Given the description of an element on the screen output the (x, y) to click on. 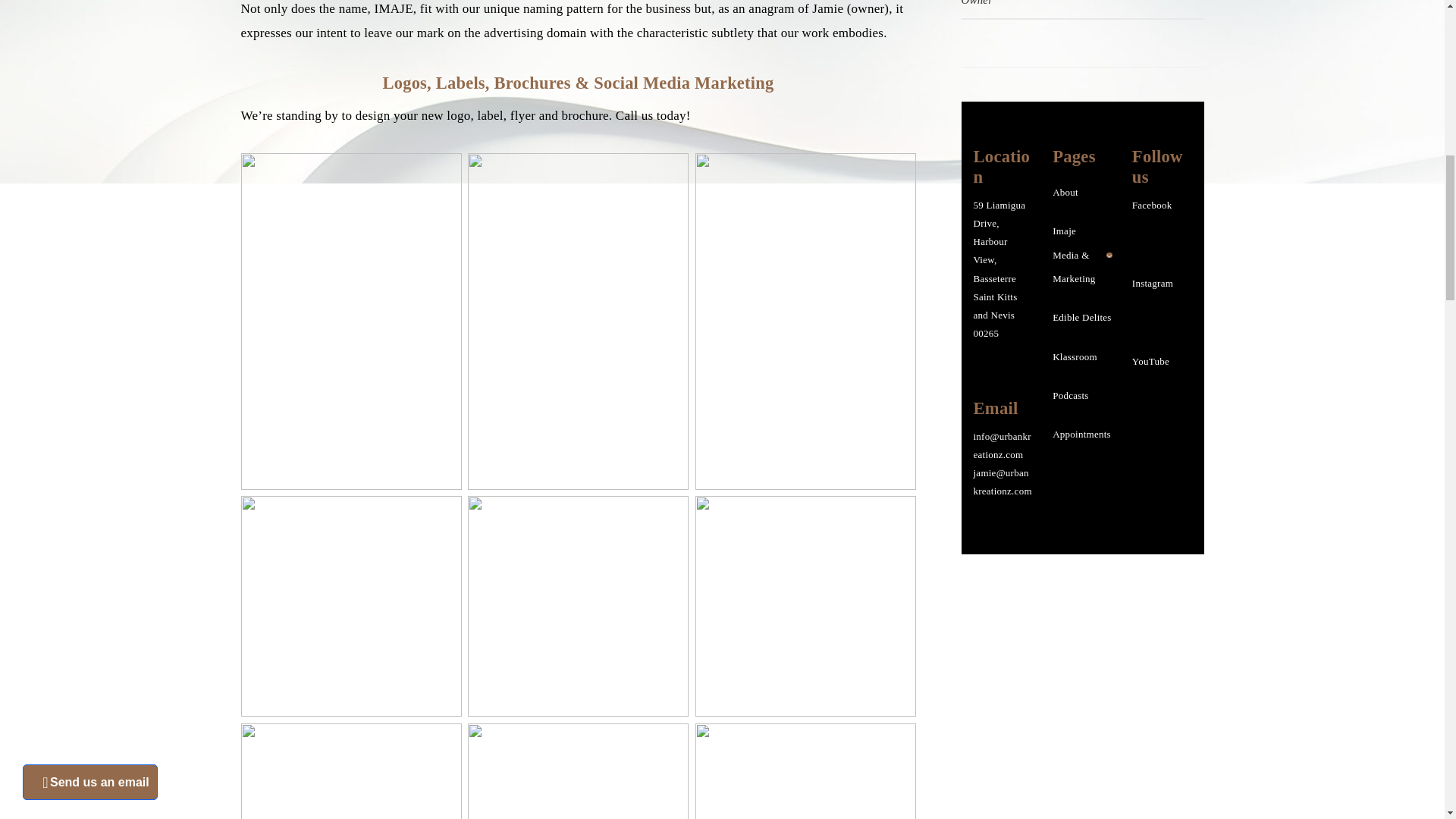
About (1065, 192)
Podcasts (1070, 395)
Appointments (1081, 434)
SKN AM on YouTube (1157, 388)
Edible Delites (1082, 317)
Urban Kreationz on Facebook (1159, 241)
Klassroom (1074, 356)
Urban Kreationz on Instagram (1159, 319)
